Given the description of an element on the screen output the (x, y) to click on. 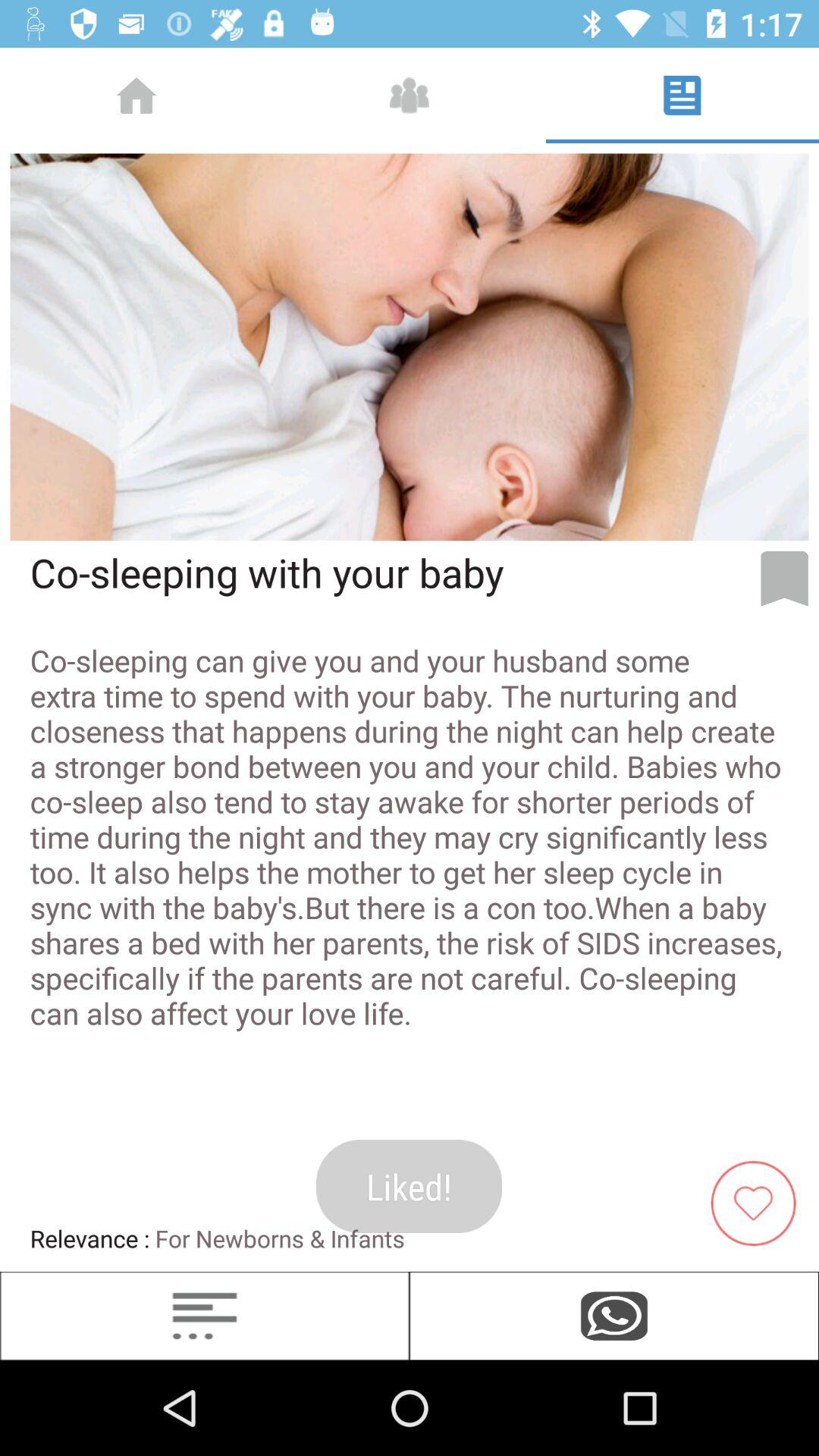
more options (204, 1315)
